Given the description of an element on the screen output the (x, y) to click on. 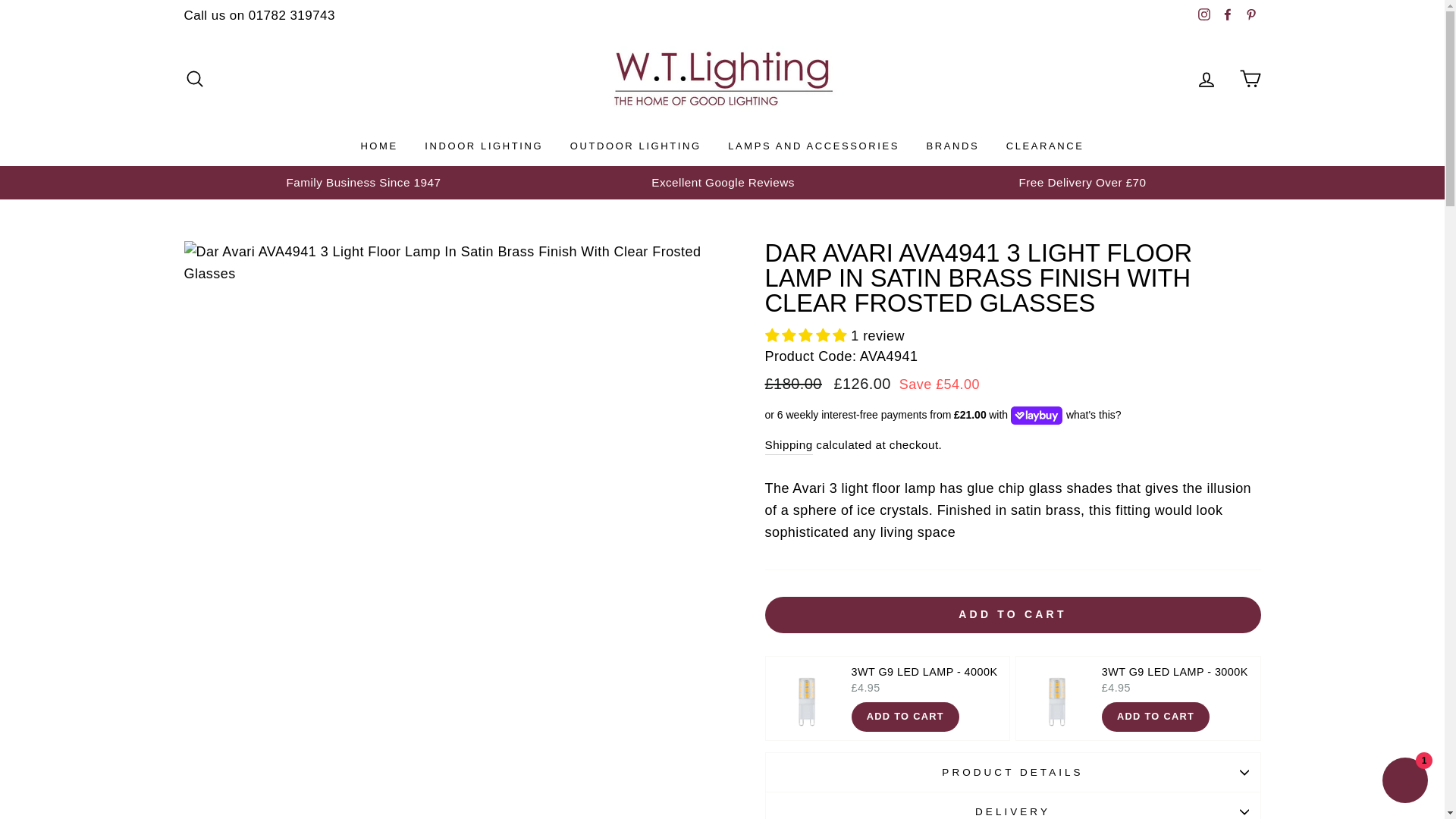
Shopify online store chat (1404, 781)
